Given the description of an element on the screen output the (x, y) to click on. 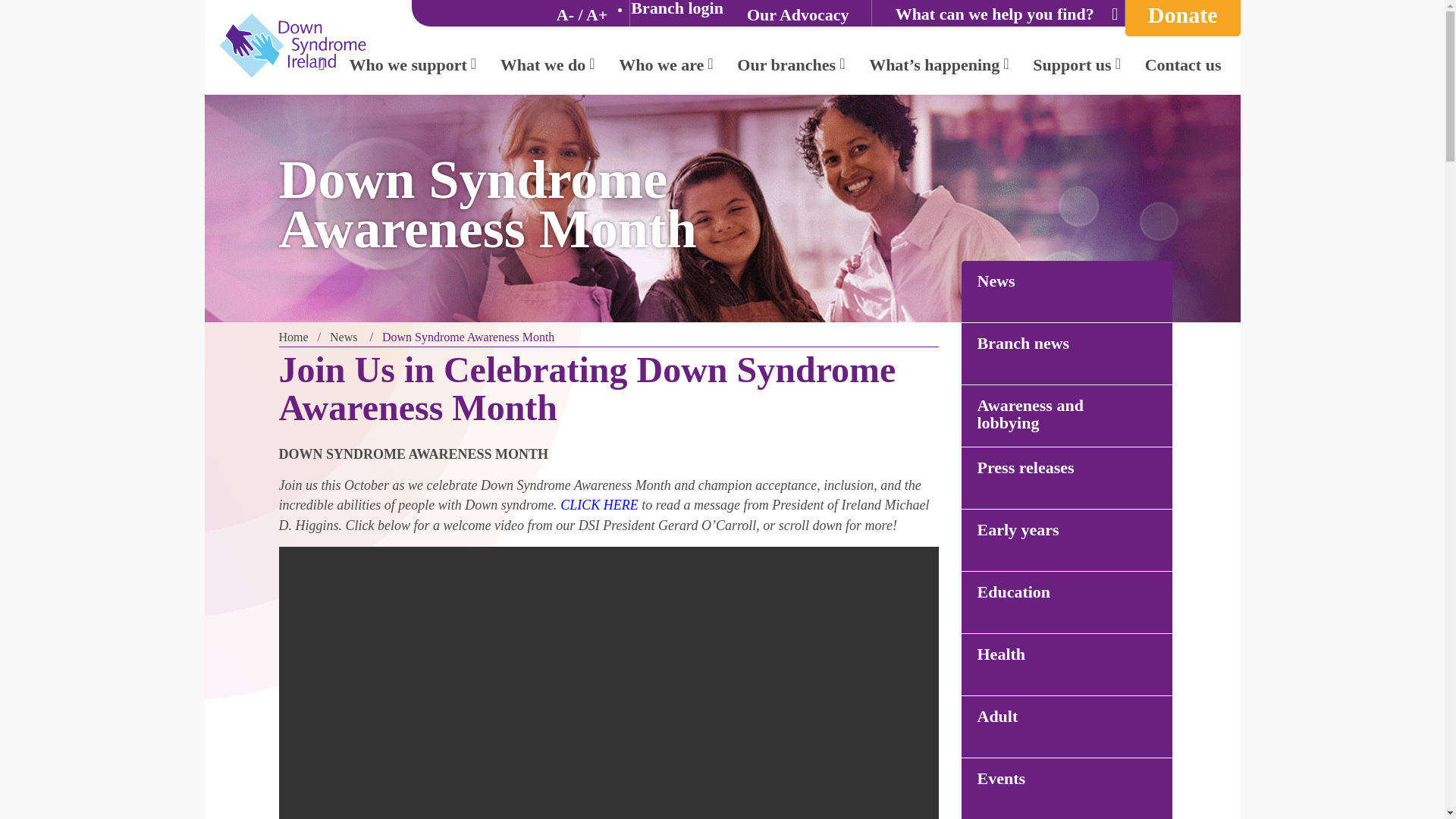
Decrease font size (564, 14)
Increase font size (596, 14)
